Given the description of an element on the screen output the (x, y) to click on. 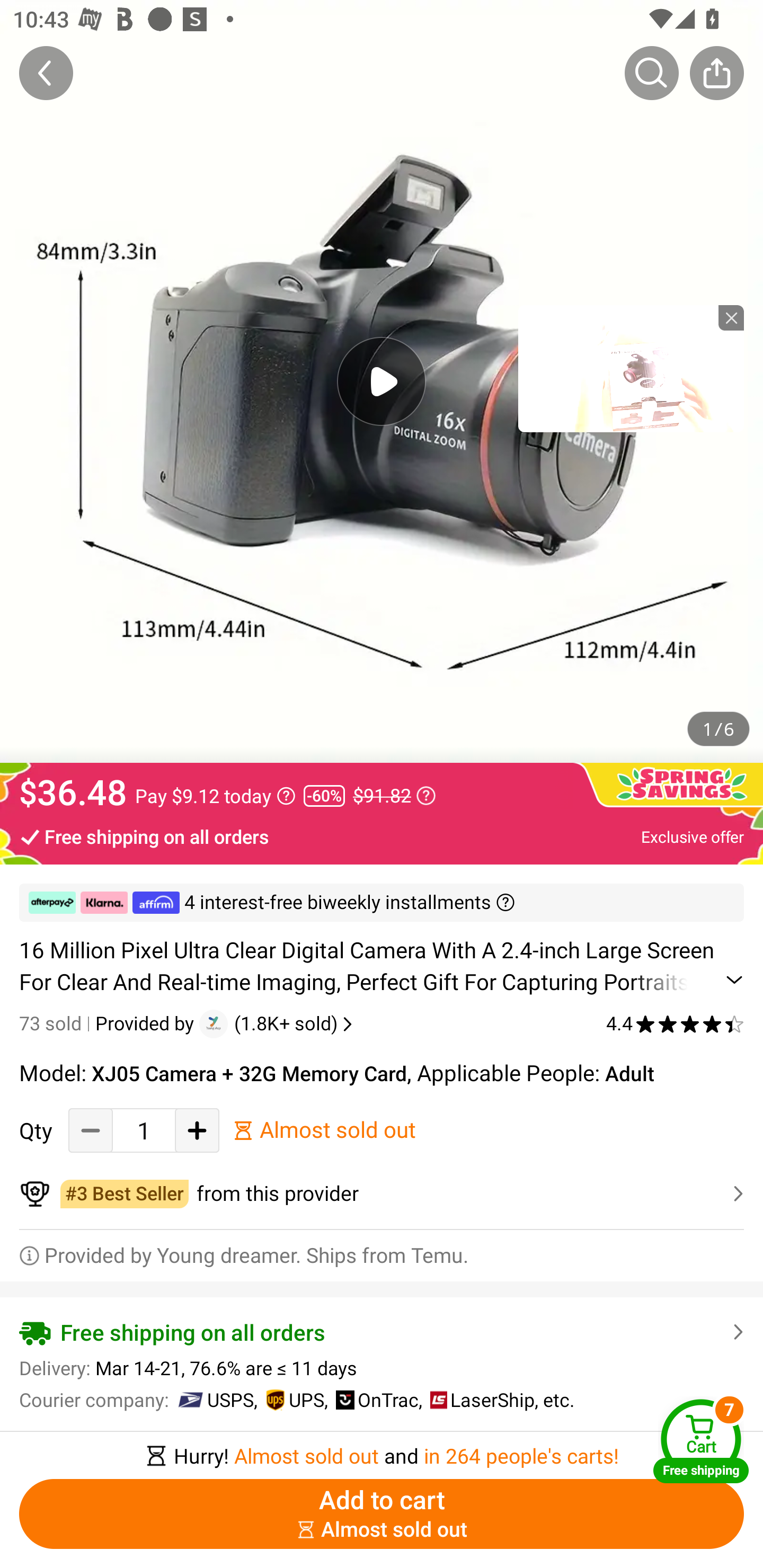
Back (46, 72)
Share (716, 72)
tronplayer_view (631, 368)
Pay $9.12 today   (215, 795)
Free shipping on all orders Exclusive offer (381, 836)
￼ ￼ ￼ 4 interest-free biweekly installments ￼ (381, 902)
73 sold Provided by  (109, 1023)
4.4 (674, 1023)
Decrease Quantity Button (90, 1130)
1 (143, 1130)
Add Quantity button (196, 1130)
￼￼from this provider (381, 1193)
Cart Free shipping Cart (701, 1440)
Add to cart ￼￼Almost sold out (381, 1513)
